Given the description of an element on the screen output the (x, y) to click on. 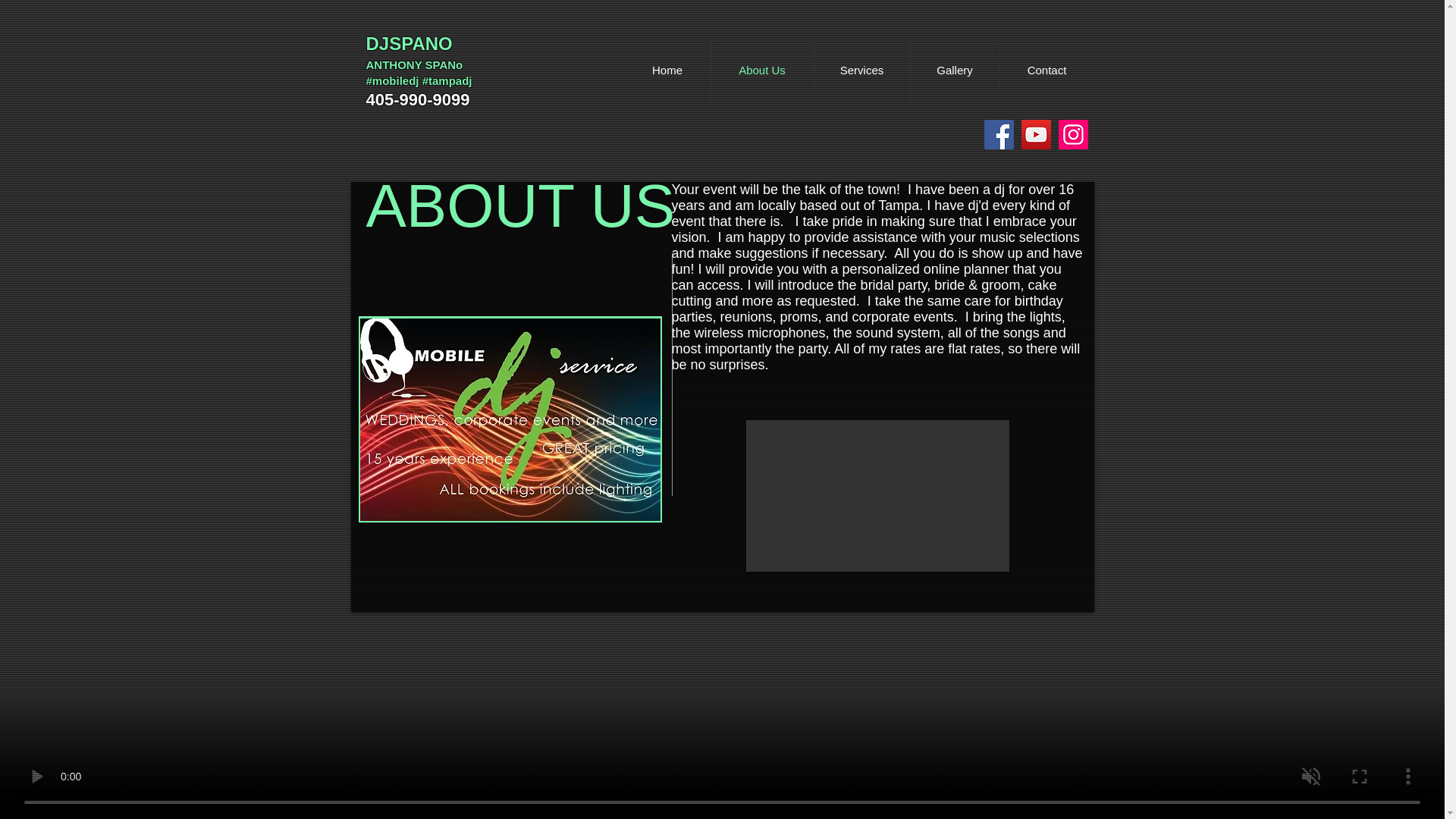
Contact (1045, 70)
Home (667, 70)
Gallery (954, 70)
External YouTube (877, 495)
About Us (762, 70)
Services (861, 70)
